Given the description of an element on the screen output the (x, y) to click on. 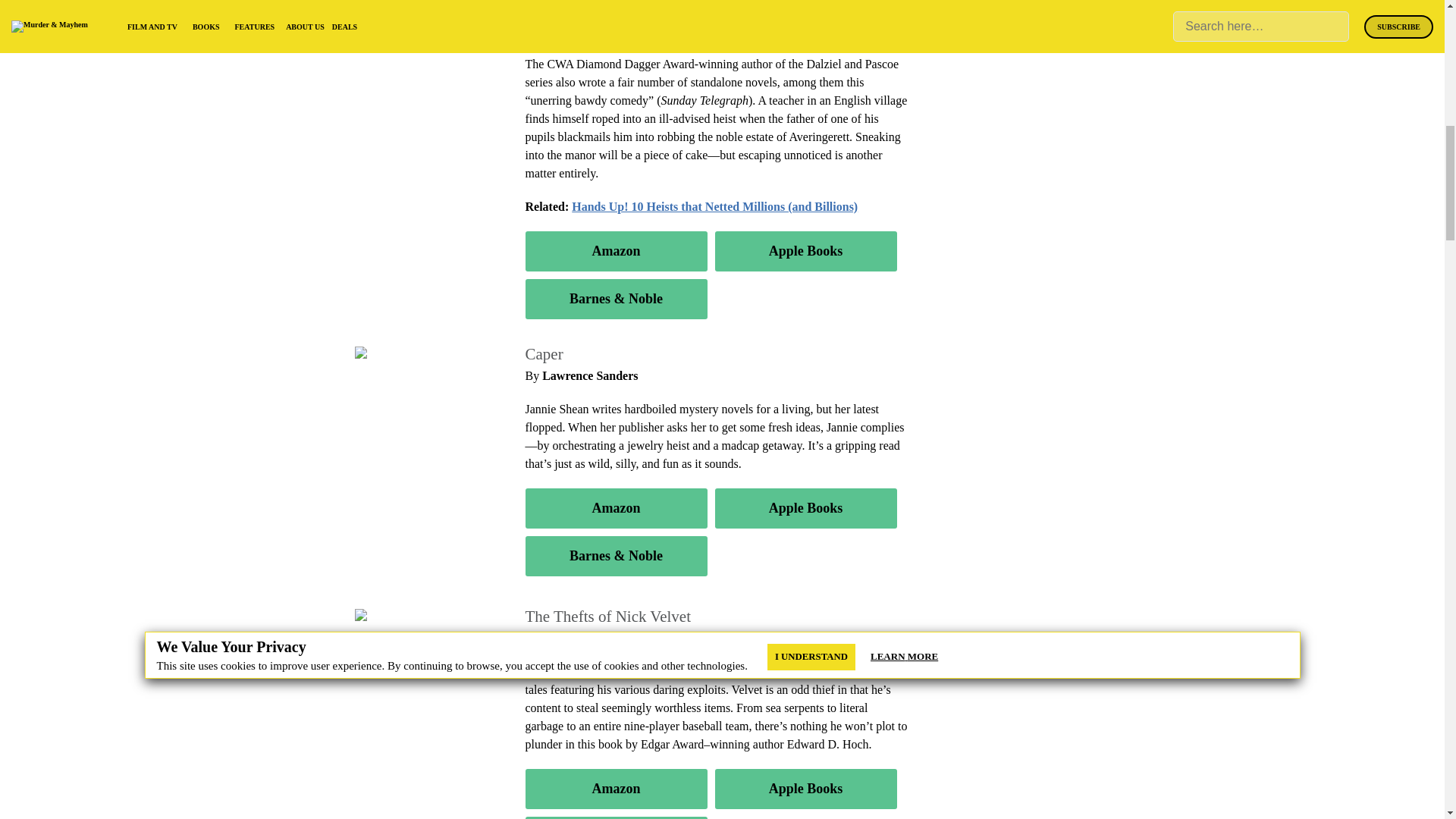
A-Fairly-Dangerous-Thing (425, 8)
Amazon (615, 250)
Apple Books (805, 789)
Apple Books (805, 250)
Amazon (615, 789)
Amazon (615, 508)
Apple Books (805, 508)
The-Thefts-of-Nick-Velvet (424, 615)
Caper (375, 353)
